Given the description of an element on the screen output the (x, y) to click on. 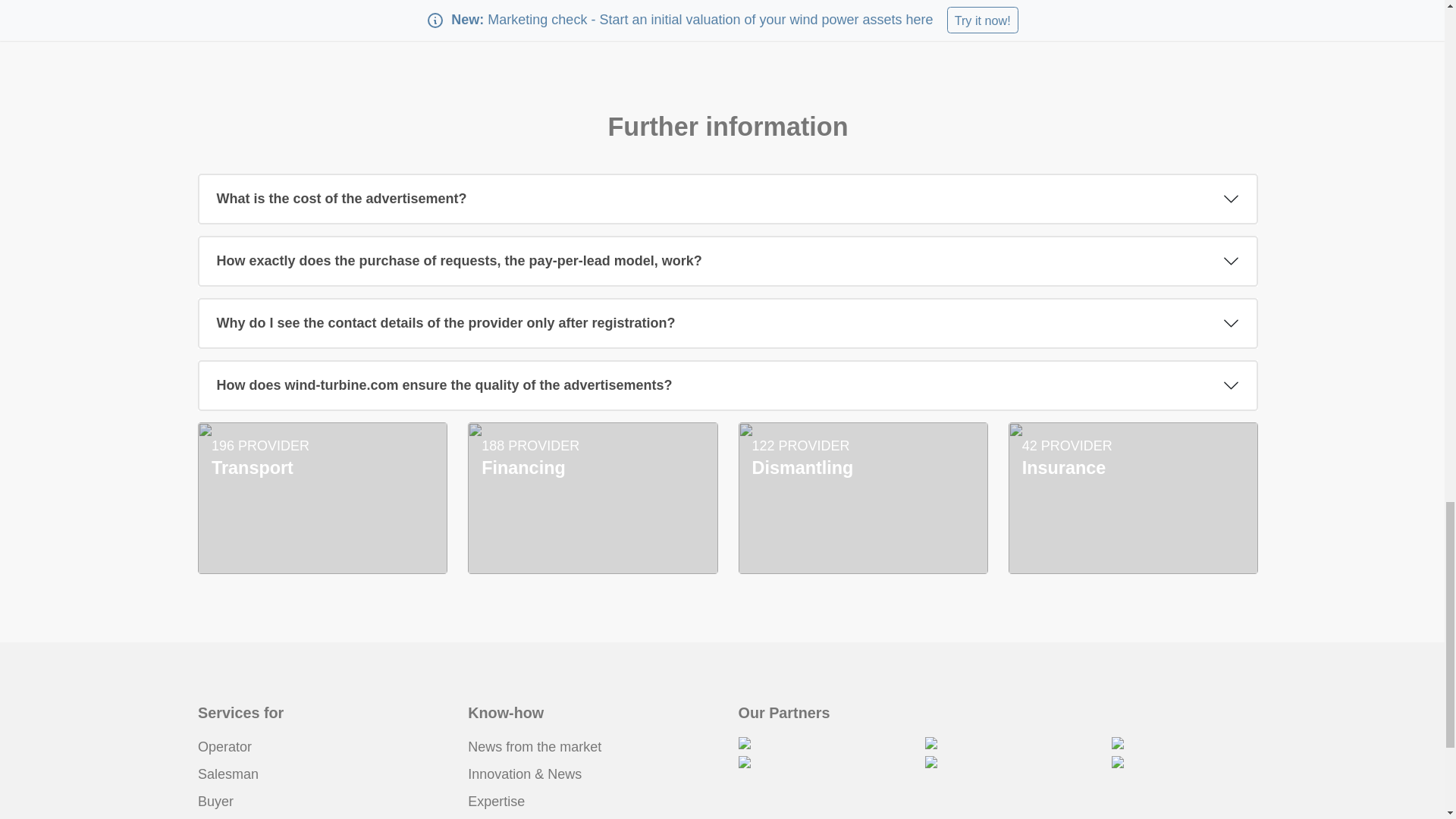
Operator (224, 746)
Salesman (228, 774)
Expertise (495, 801)
Buyer (215, 801)
News from the market (534, 746)
